Given the description of an element on the screen output the (x, y) to click on. 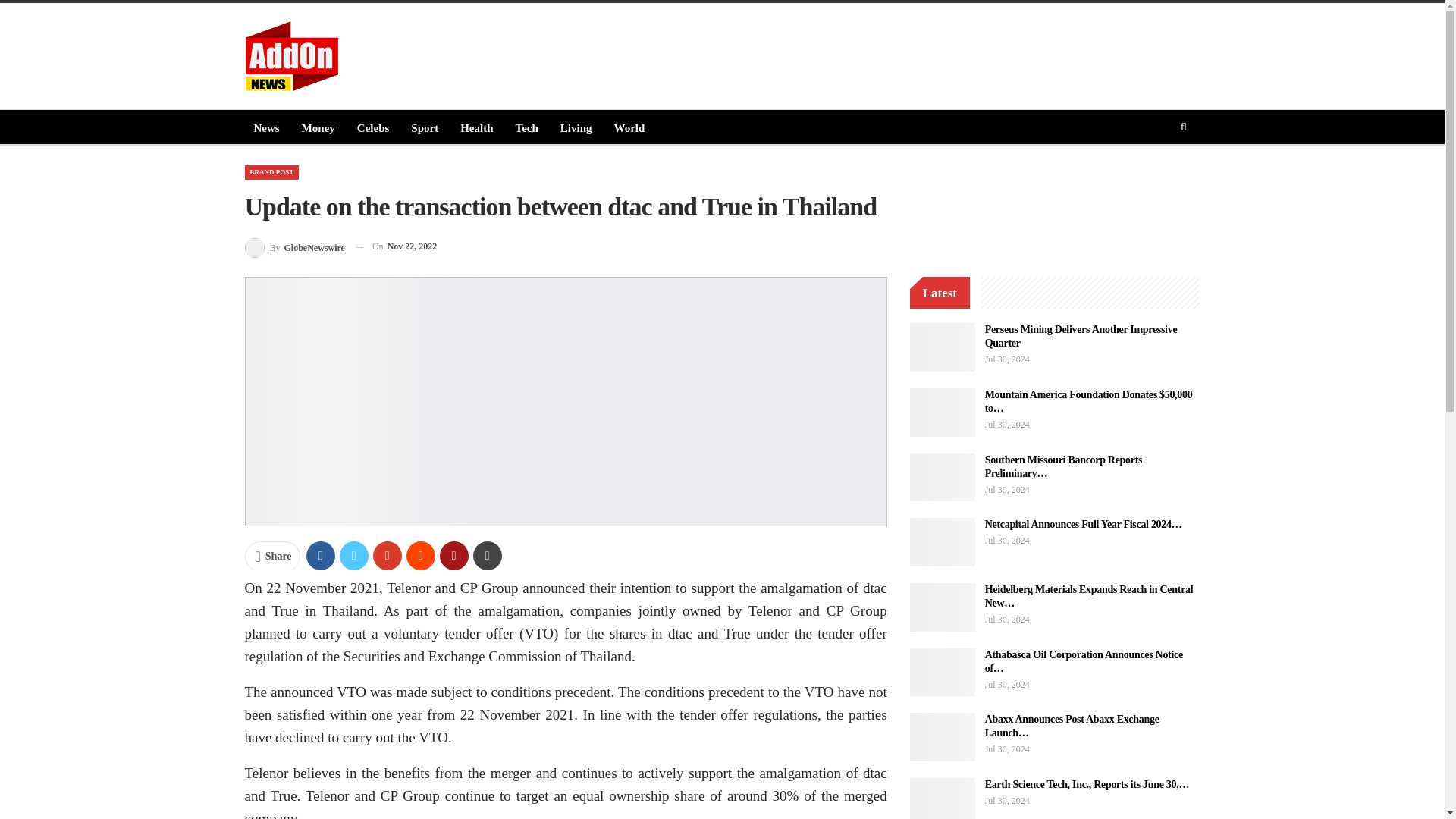
News (266, 127)
Money (317, 127)
World (629, 127)
Sport (423, 127)
Living (576, 127)
Health (476, 127)
Perseus Mining Delivers Another Impressive Quarter (942, 346)
BRAND POST (271, 172)
Celebs (372, 127)
Tech (526, 127)
By GlobeNewswire (293, 246)
Browse Author Articles (293, 246)
